Given the description of an element on the screen output the (x, y) to click on. 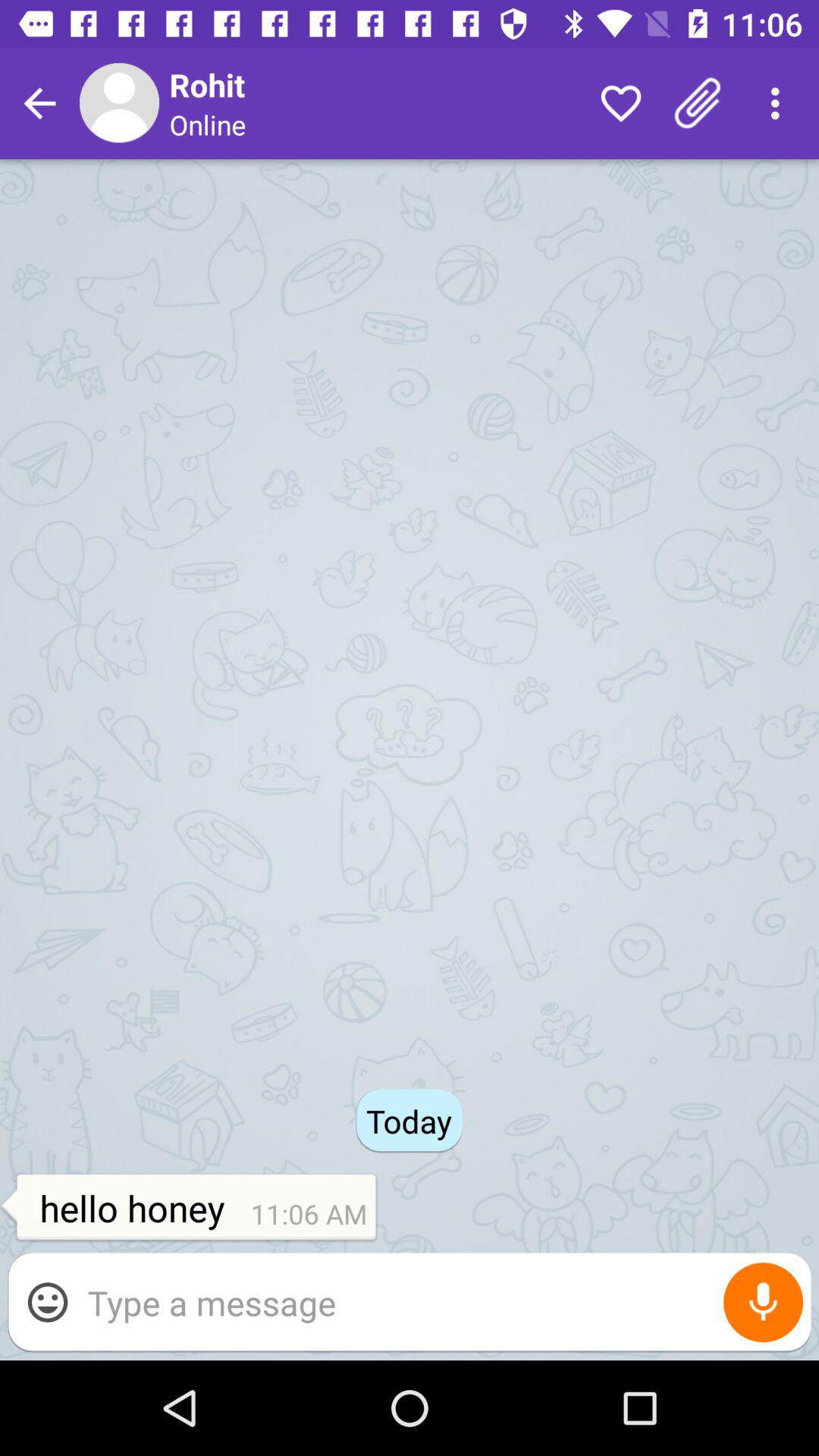
select icon below the hello honey item (441, 1302)
